Given the description of an element on the screen output the (x, y) to click on. 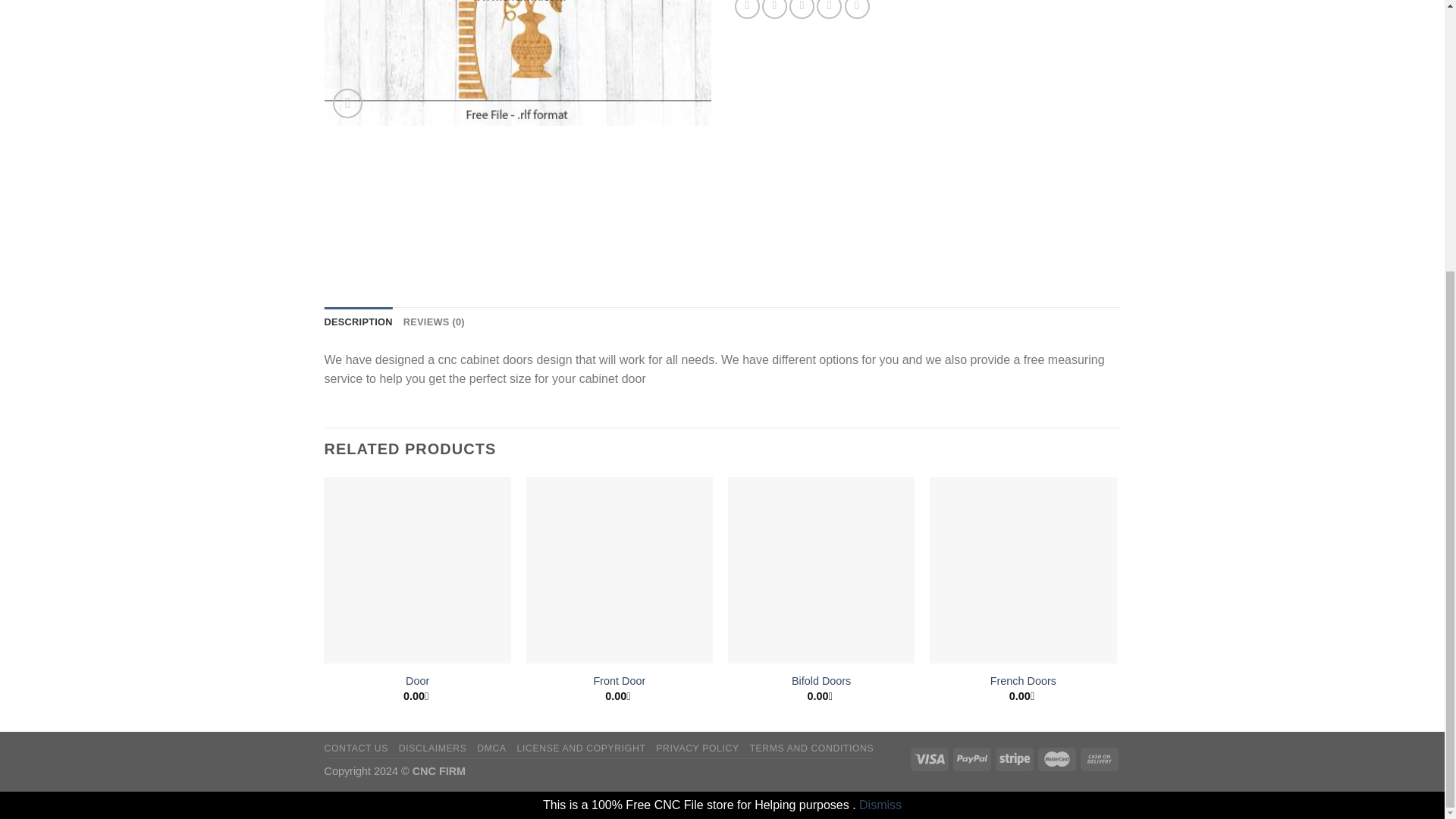
Share on Facebook (747, 9)
cnc cabinet doors (517, 63)
Email to a Friend (801, 9)
Share on Twitter (774, 9)
Zoom (347, 102)
